Given the description of an element on the screen output the (x, y) to click on. 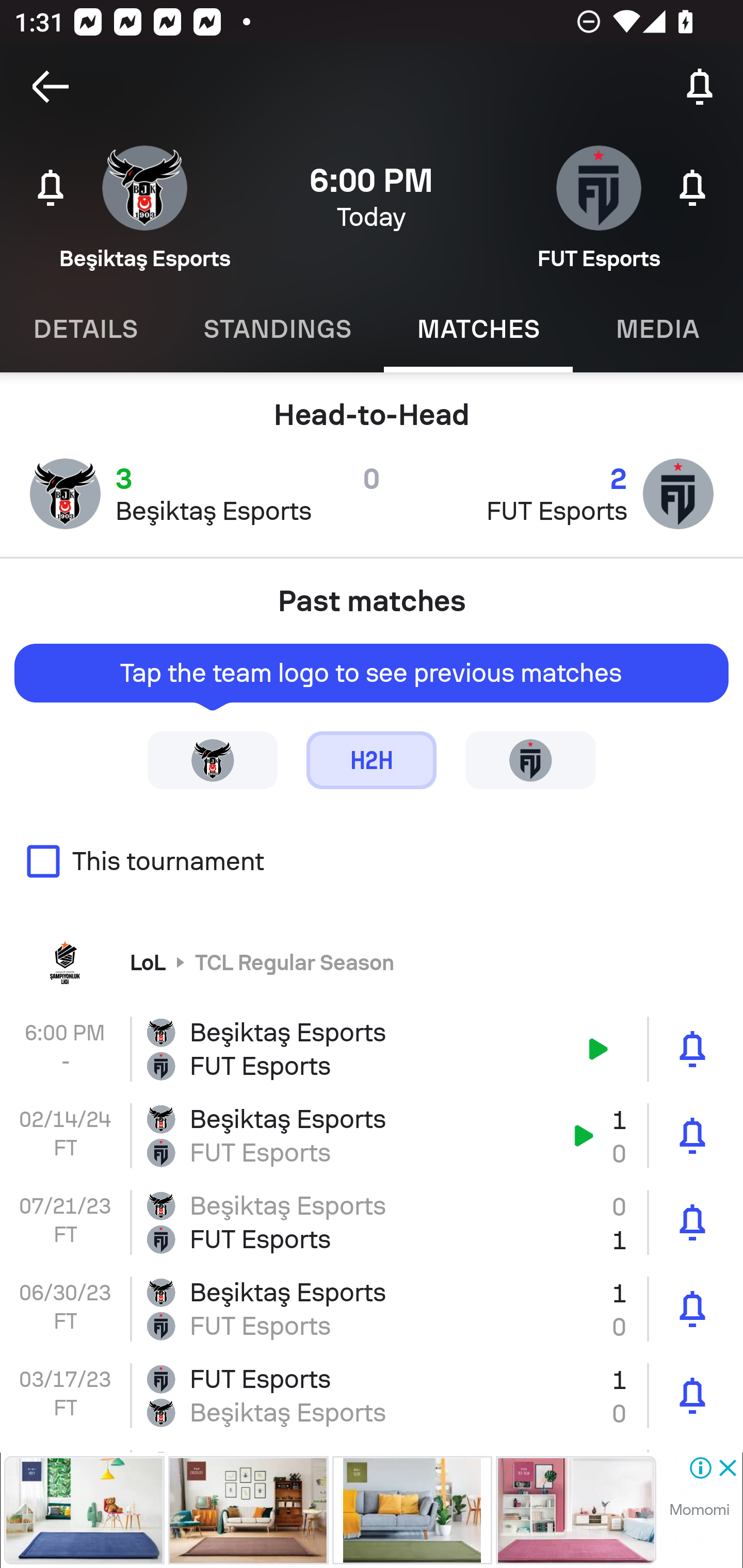
Navigate up (50, 86)
Details DETAILS (85, 329)
Standings STANDINGS (277, 329)
Media MEDIA (657, 329)
H2H (371, 759)
This tournament (371, 861)
LoL TCL Regular Season (371, 961)
6:00 PM - Beşiktaş Esports FUT Esports (371, 1048)
02/14/24 FT Beşiktaş Esports FUT Esports 1 0 (371, 1135)
07/21/23 FT Beşiktaş Esports 0 FUT Esports 1 (371, 1222)
06/30/23 FT Beşiktaş Esports 1 FUT Esports 0 (371, 1308)
03/17/23 FT FUT Esports 1 Beşiktaş Esports 0 (371, 1395)
Momomi (699, 1509)
